Given the description of an element on the screen output the (x, y) to click on. 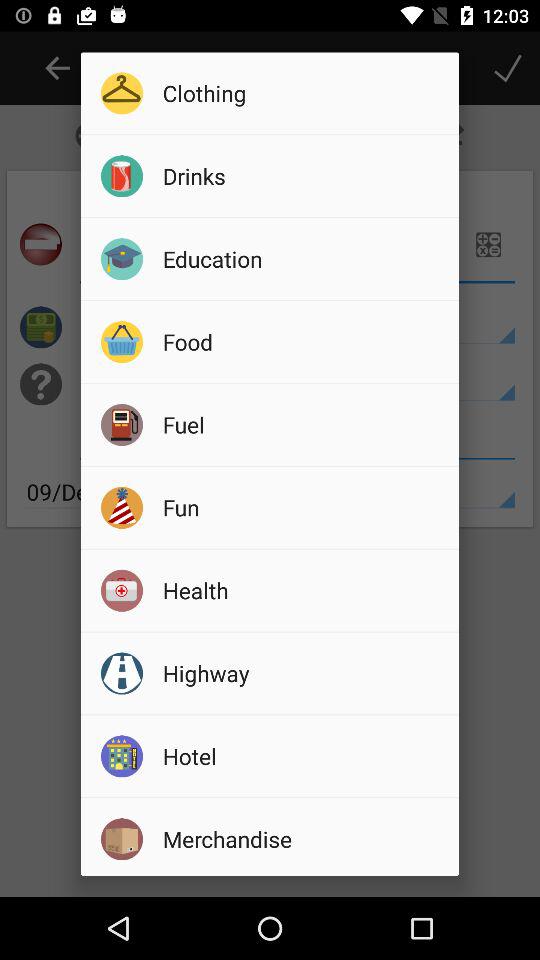
select the education icon (303, 258)
